Given the description of an element on the screen output the (x, y) to click on. 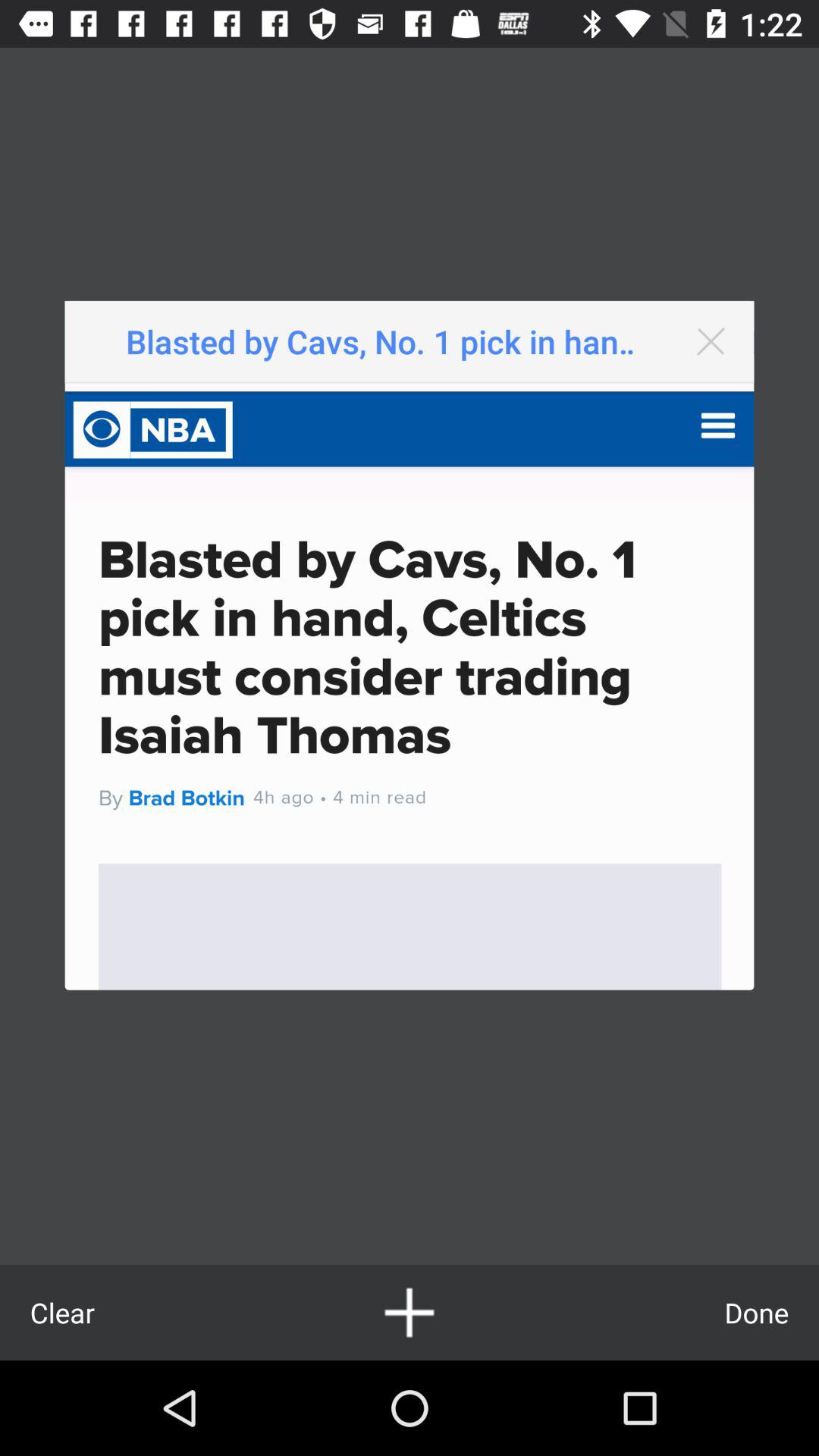
open the icon to the left of the done icon (409, 1312)
